Given the description of an element on the screen output the (x, y) to click on. 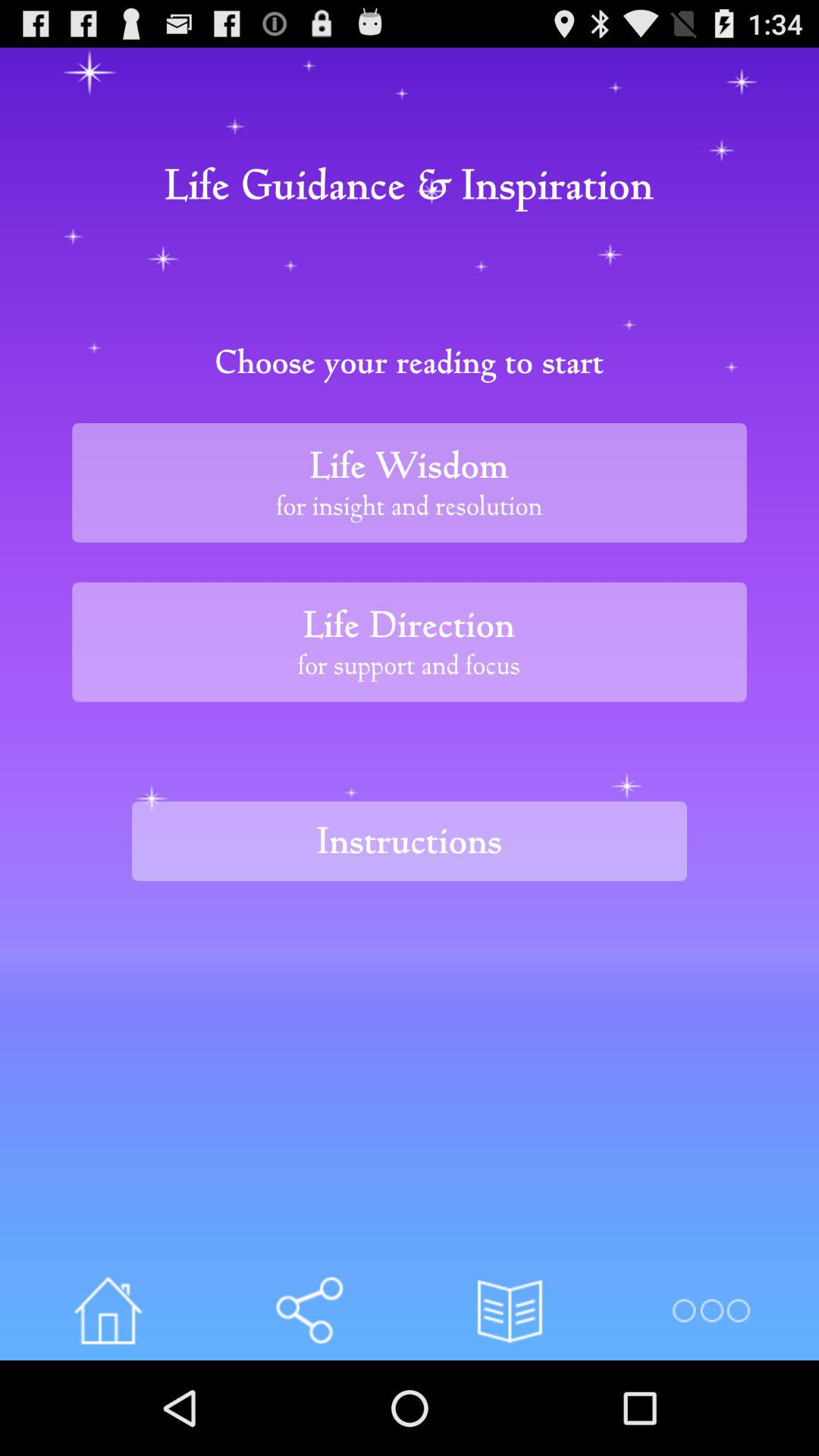
options (710, 1310)
